Given the description of an element on the screen output the (x, y) to click on. 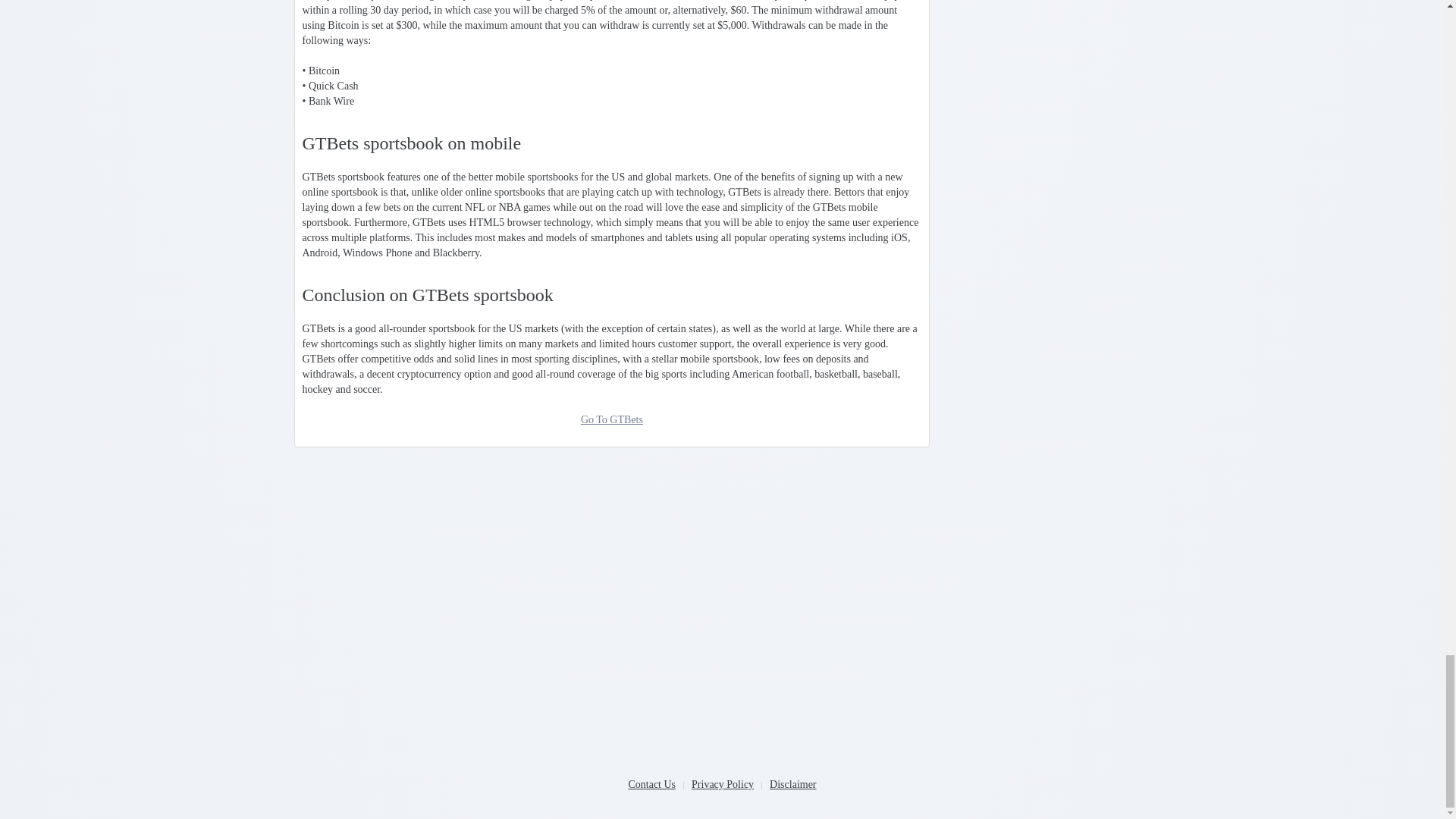
Go To GTBets (611, 419)
Privacy Policy (722, 784)
Contact Us (651, 784)
Disclaimer (792, 784)
